Given the description of an element on the screen output the (x, y) to click on. 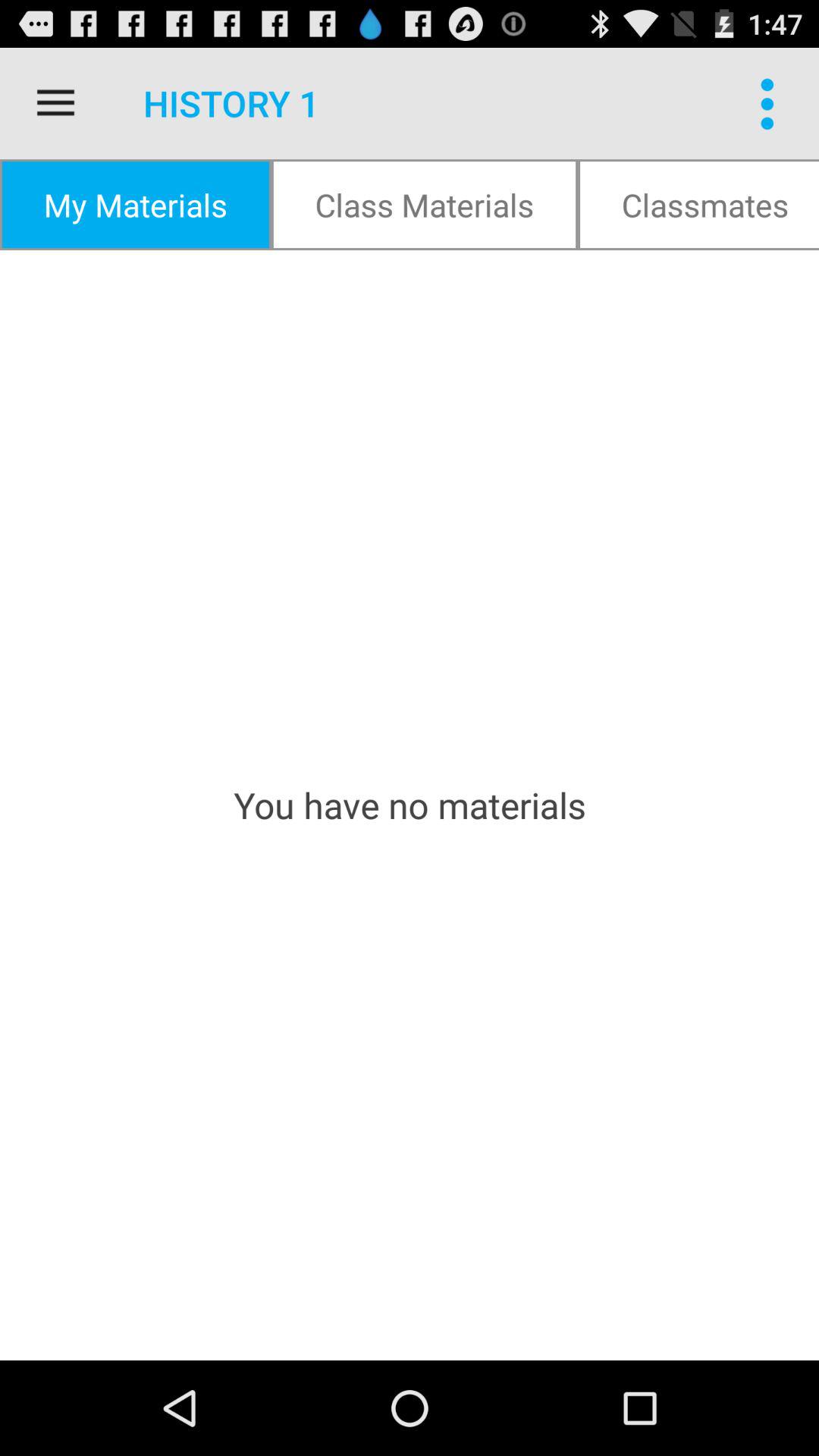
select the item next to the my materials icon (424, 204)
